Given the description of an element on the screen output the (x, y) to click on. 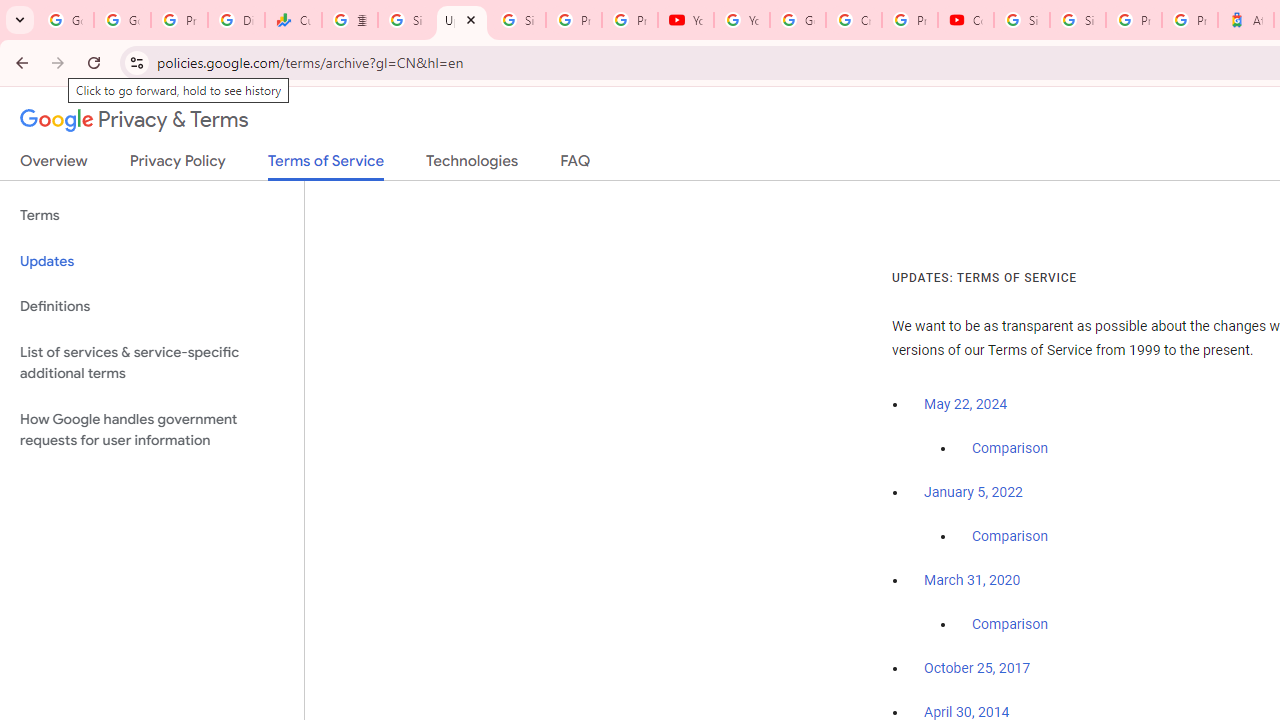
Content Creator Programs & Opportunities - YouTube Creators (966, 20)
January 5, 2022 (973, 492)
October 25, 2017 (977, 669)
Sign in - Google Accounts (518, 20)
Google Workspace Admin Community (65, 20)
Sign in - Google Accounts (1021, 20)
Create your Google Account (853, 20)
Definitions (152, 306)
